Given the description of an element on the screen output the (x, y) to click on. 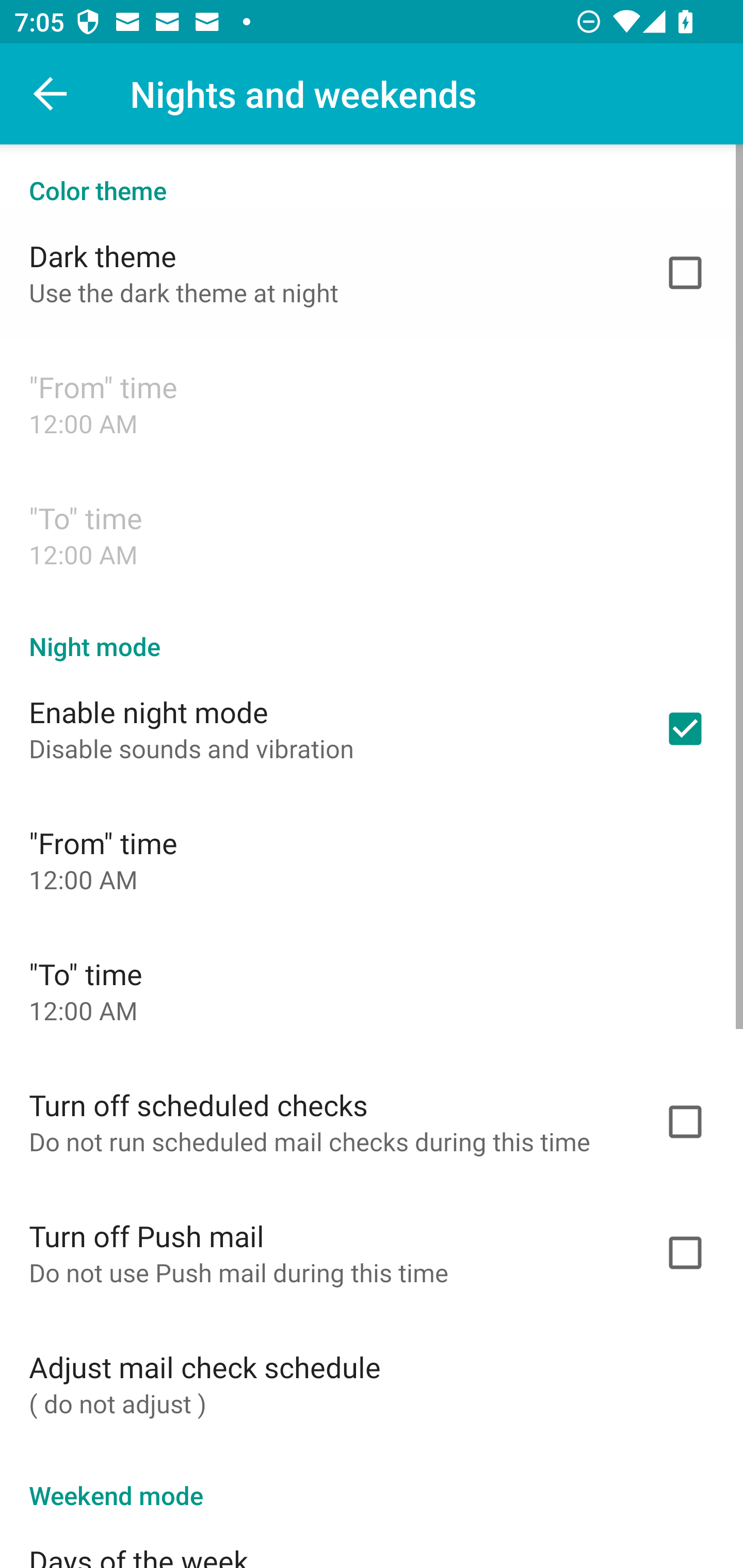
Navigate up (50, 93)
Dark theme Use the dark theme at night (371, 272)
"From" time 12:00 AM (371, 403)
"To" time 12:00 AM (371, 534)
Enable night mode Disable sounds and vibration (371, 728)
"From" time 12:00 AM (371, 859)
"To" time 12:00 AM (371, 990)
Adjust mail check schedule ( do not adjust ) (371, 1383)
